Given the description of an element on the screen output the (x, y) to click on. 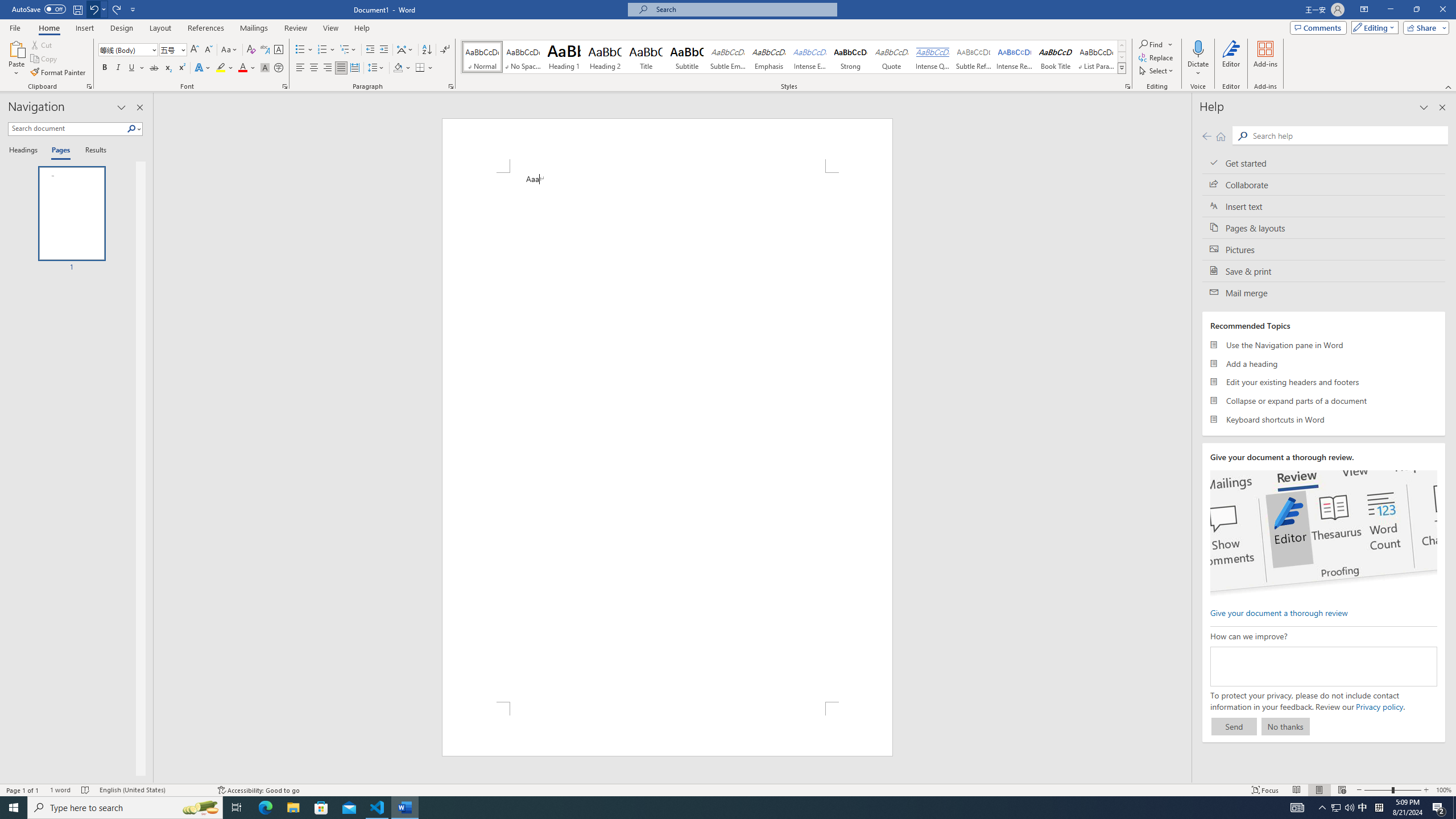
Find (1155, 44)
Font... (285, 85)
Minimize (1390, 9)
Class: NetUIImage (1121, 68)
Change Case (229, 49)
Intense Emphasis (809, 56)
Grow Font (193, 49)
Subtitle (686, 56)
Text Highlight Color Yellow (220, 67)
Web Layout (1342, 790)
Layout (160, 28)
Restore Down (1416, 9)
Align Left (300, 67)
Comments (1318, 27)
Send (1233, 726)
